Given the description of an element on the screen output the (x, y) to click on. 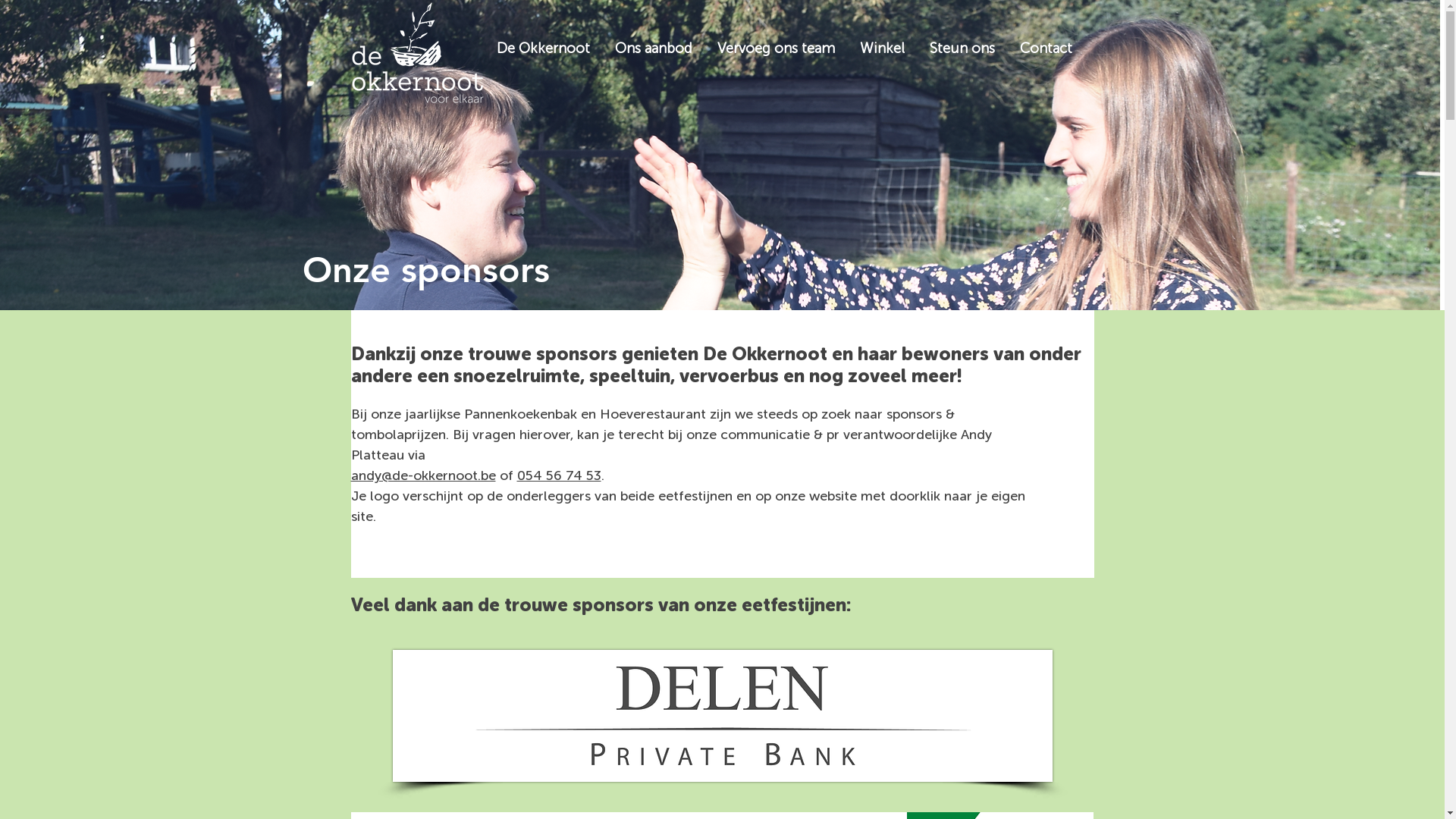
Winkel Element type: text (891, 48)
Contact Element type: text (1054, 48)
Private Delen Bank.tif Element type: hover (722, 715)
054 56 74 53 Element type: text (559, 475)
Ons aanbod Element type: text (662, 48)
andy@de-okkernoot.be Element type: text (422, 475)
